Given the description of an element on the screen output the (x, y) to click on. 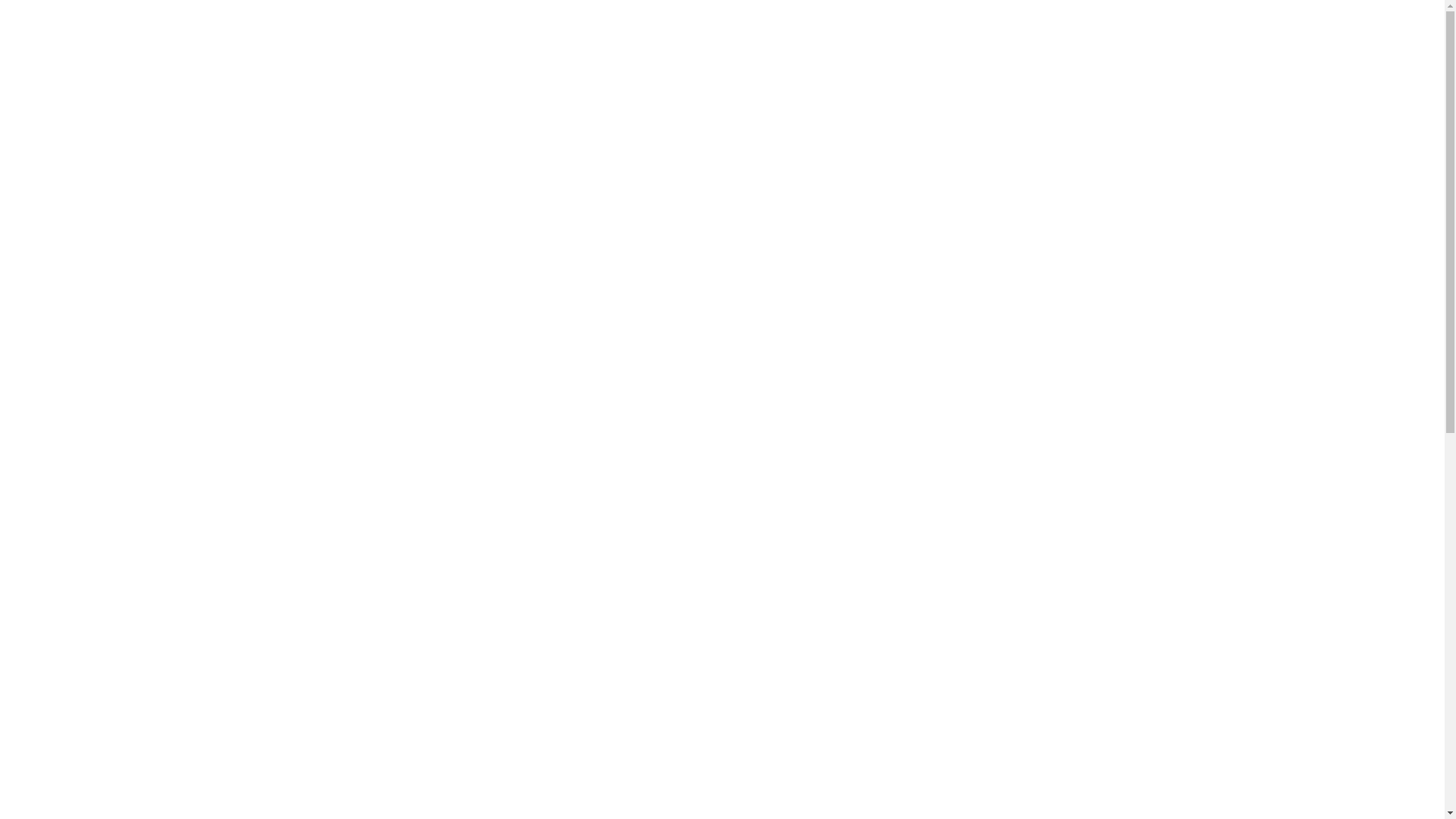
Nieuws Element type: text (986, 405)
Evenementen Element type: text (1003, 453)
Tips & tricks Element type: text (1000, 429)
